Given the description of an element on the screen output the (x, y) to click on. 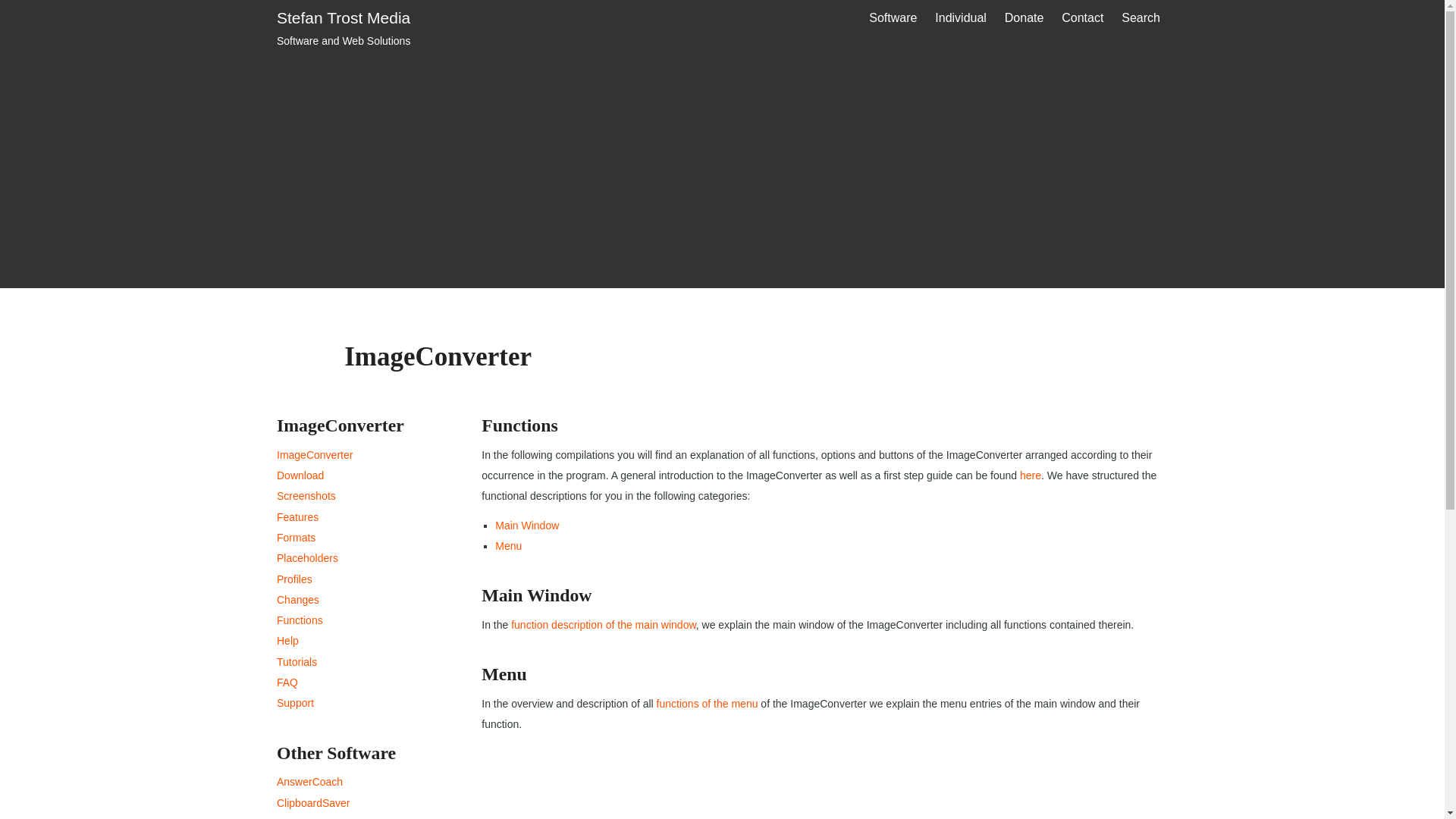
EasyMusicPlayer (317, 818)
Functions (299, 620)
Tutorials (296, 662)
Download (299, 475)
Search (343, 29)
FAQ (1140, 17)
Donate (287, 682)
Changes (1024, 17)
Contact (297, 599)
